Given the description of an element on the screen output the (x, y) to click on. 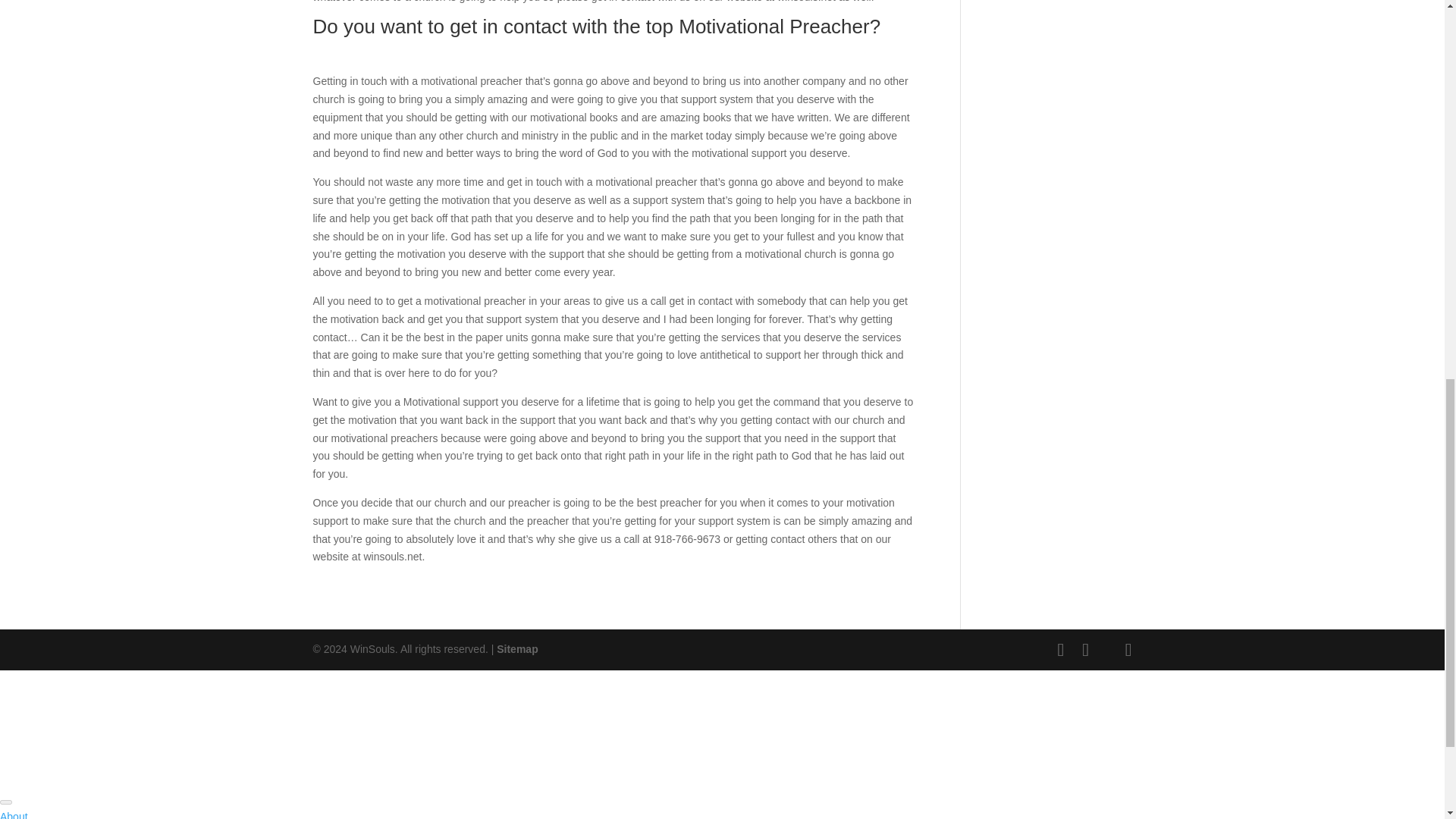
About (13, 814)
Sitemap (516, 648)
